Given the description of an element on the screen output the (x, y) to click on. 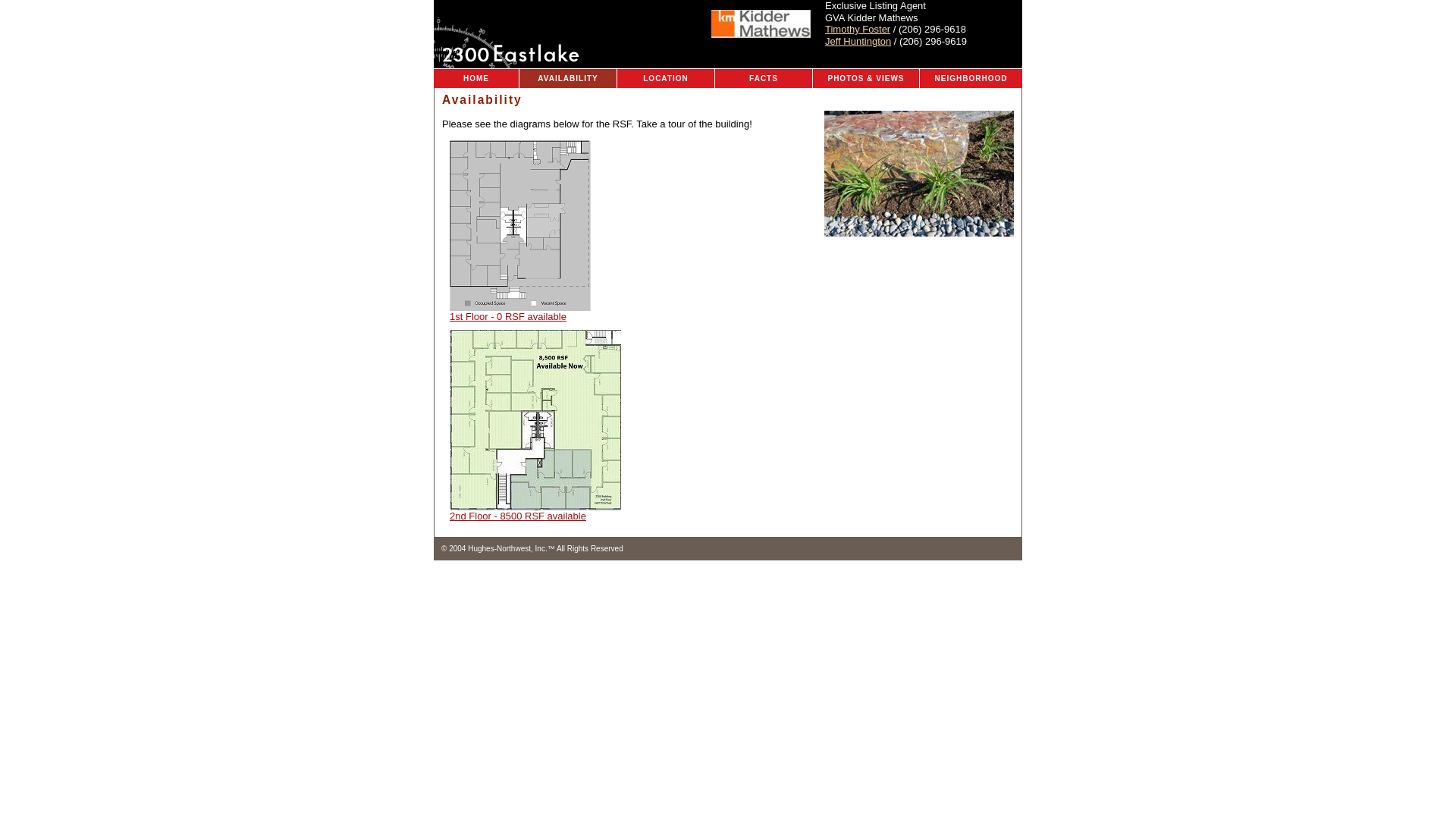
NEIGHBORHOOD Element type: text (970, 77)
FACTS Element type: text (763, 77)
Timothy Foster Element type: text (857, 28)
PHOTOS & VIEWS Element type: text (865, 77)
LOCATION Element type: text (666, 77)
Jeff Huntington Element type: text (858, 41)
1st Floor - 0 RSF available Element type: text (520, 311)
AVAILABILITY Element type: text (568, 77)
2nd Floor - 8500 RSF available Element type: text (535, 511)
HOME Element type: text (476, 77)
